Given the description of an element on the screen output the (x, y) to click on. 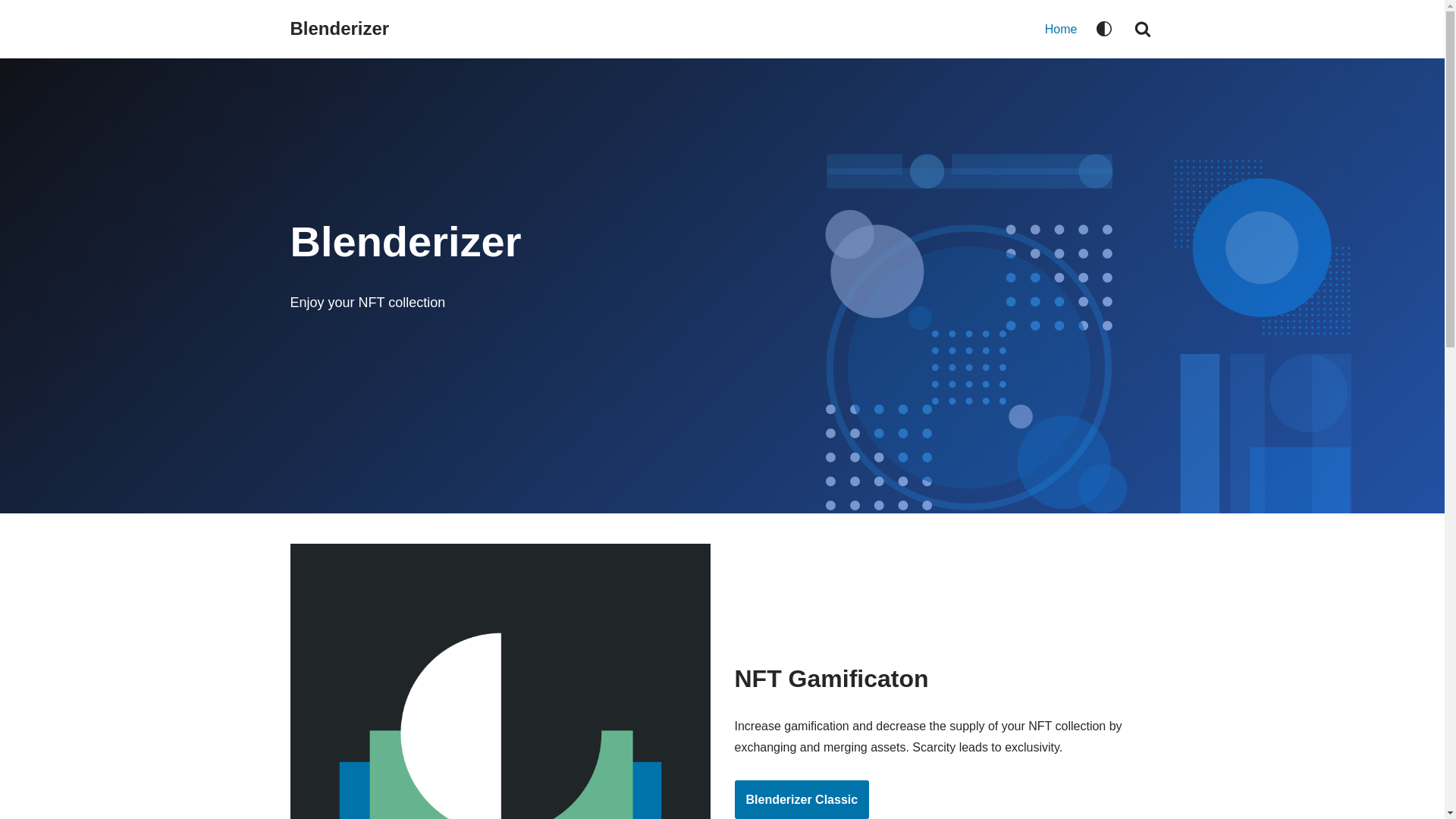
Home Element type: text (1060, 29)
Skip to content Element type: text (11, 31)
Blenderizer Element type: text (339, 28)
